Given the description of an element on the screen output the (x, y) to click on. 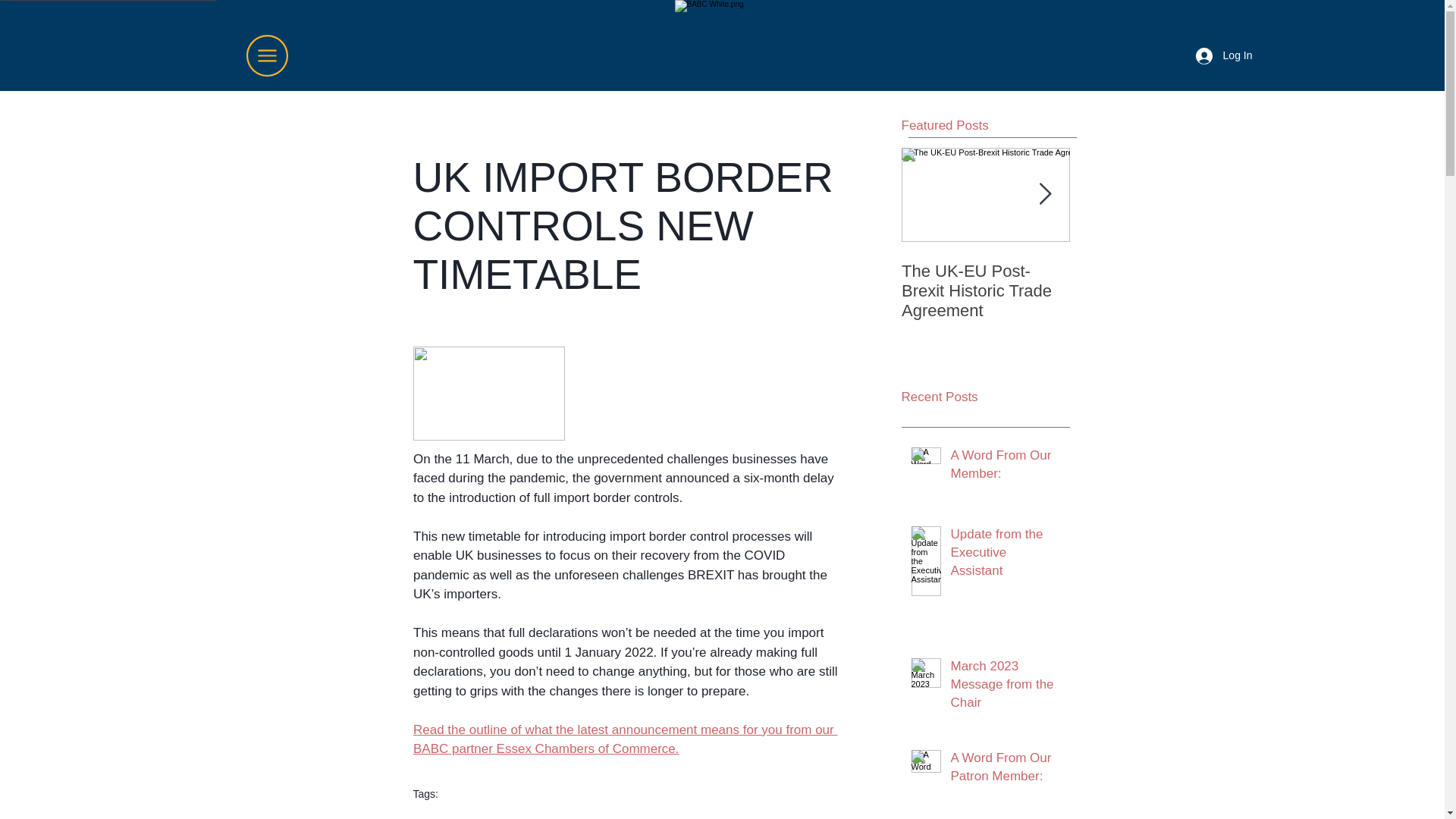
A Word From Our Patron Member: (1005, 770)
The UK-EU Post-Brexit Historic Trade Agreement (984, 291)
Log In (1224, 54)
March 2023 Message from the Chair (1005, 687)
Imports (516, 818)
Update from the Executive Assistant (1005, 555)
UK business (448, 818)
A Word From Our Member: (1005, 467)
